Given the description of an element on the screen output the (x, y) to click on. 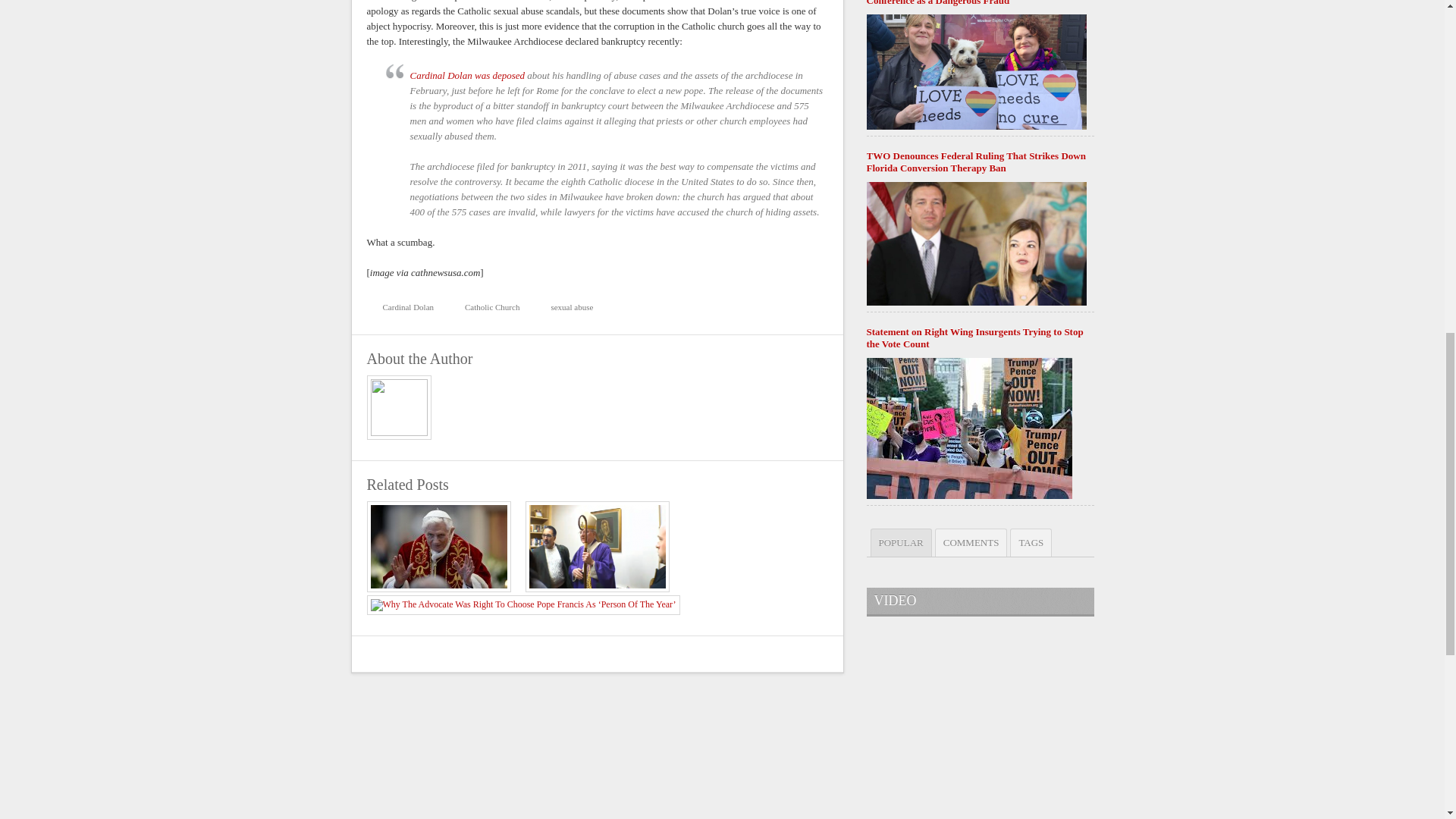
Cardinal Dolan was deposed (466, 75)
sexual abuse (566, 307)
Times article. (466, 75)
Cardinal Dolan (404, 307)
Catholic Church (487, 307)
